Given the description of an element on the screen output the (x, y) to click on. 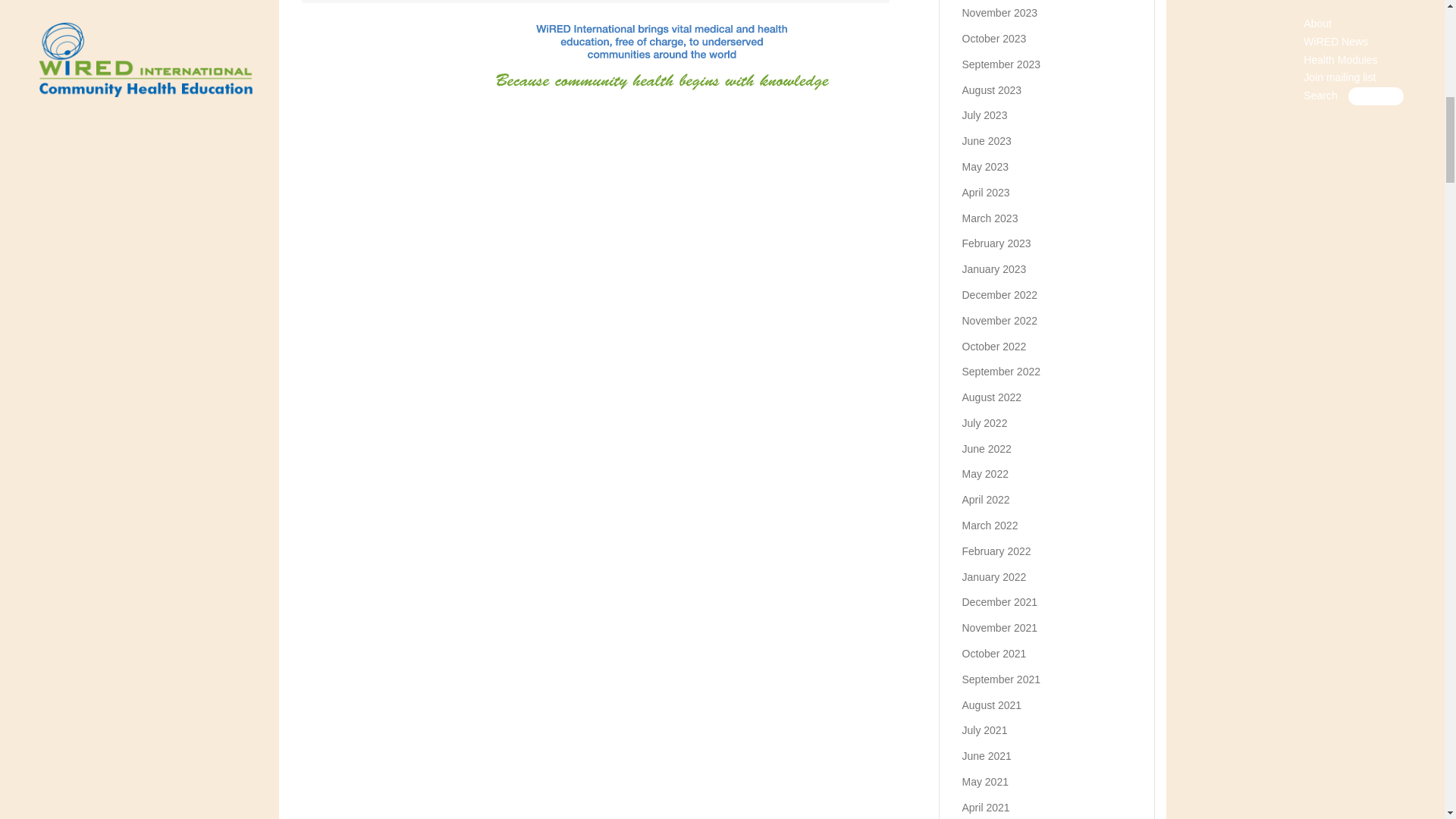
October 2023 (993, 38)
August 2023 (991, 90)
September 2023 (1000, 64)
November 2023 (998, 12)
